Given the description of an element on the screen output the (x, y) to click on. 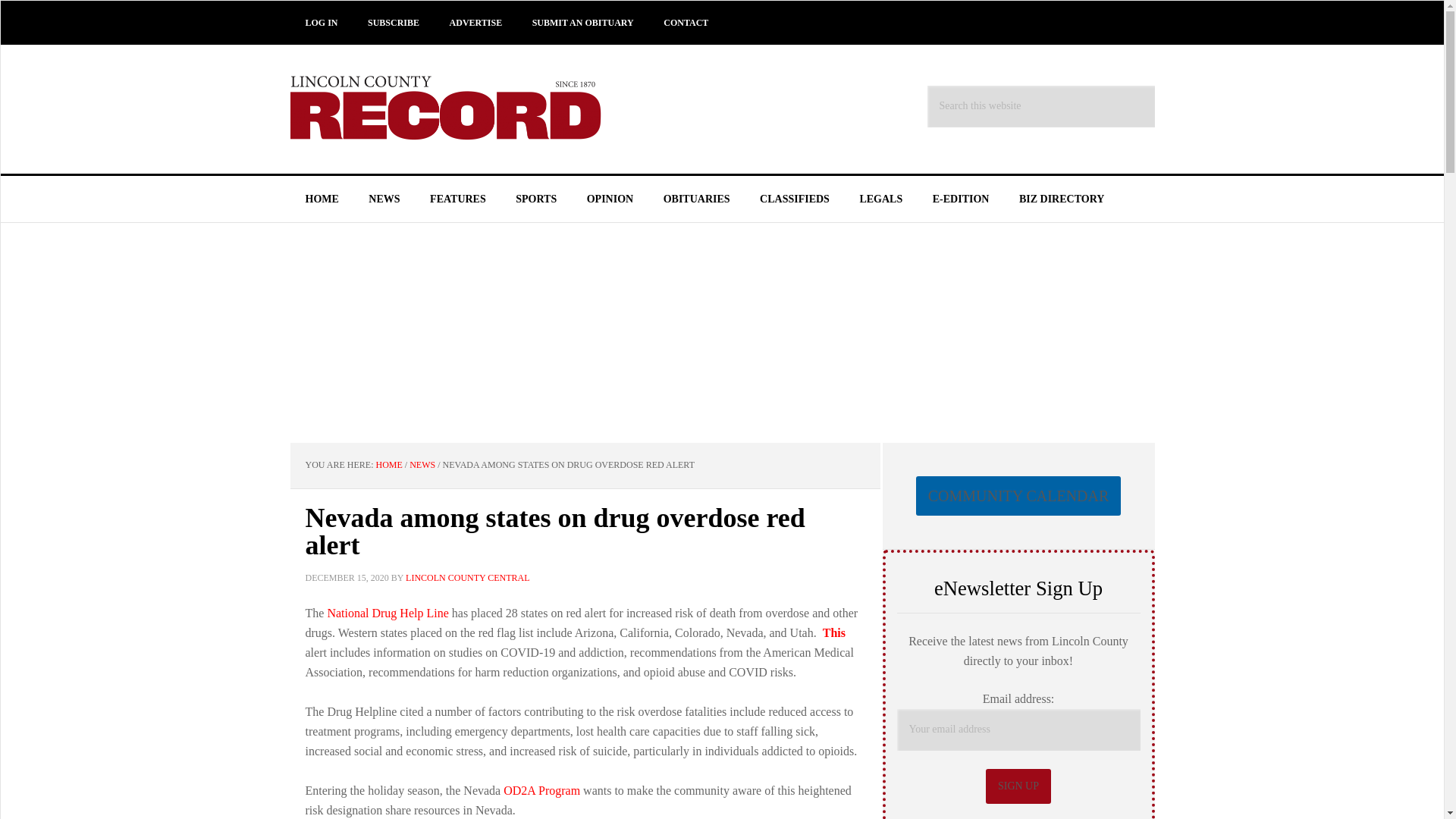
NEWS (383, 198)
SUBMIT AN OBITUARY (582, 22)
CLASSIFIEDS (794, 198)
LINCOLN COUNTY CENTRAL (467, 576)
Sign up (1018, 786)
SUBSCRIBE (392, 22)
OPINION (609, 198)
National Drug Help Line (387, 612)
LOG IN (320, 22)
COMMUNITY CALENDAR (1018, 495)
CONTACT (685, 22)
ADVERTISE (475, 22)
HOME (389, 464)
LINCOLN COUNTY RECORD (456, 109)
